Given the description of an element on the screen output the (x, y) to click on. 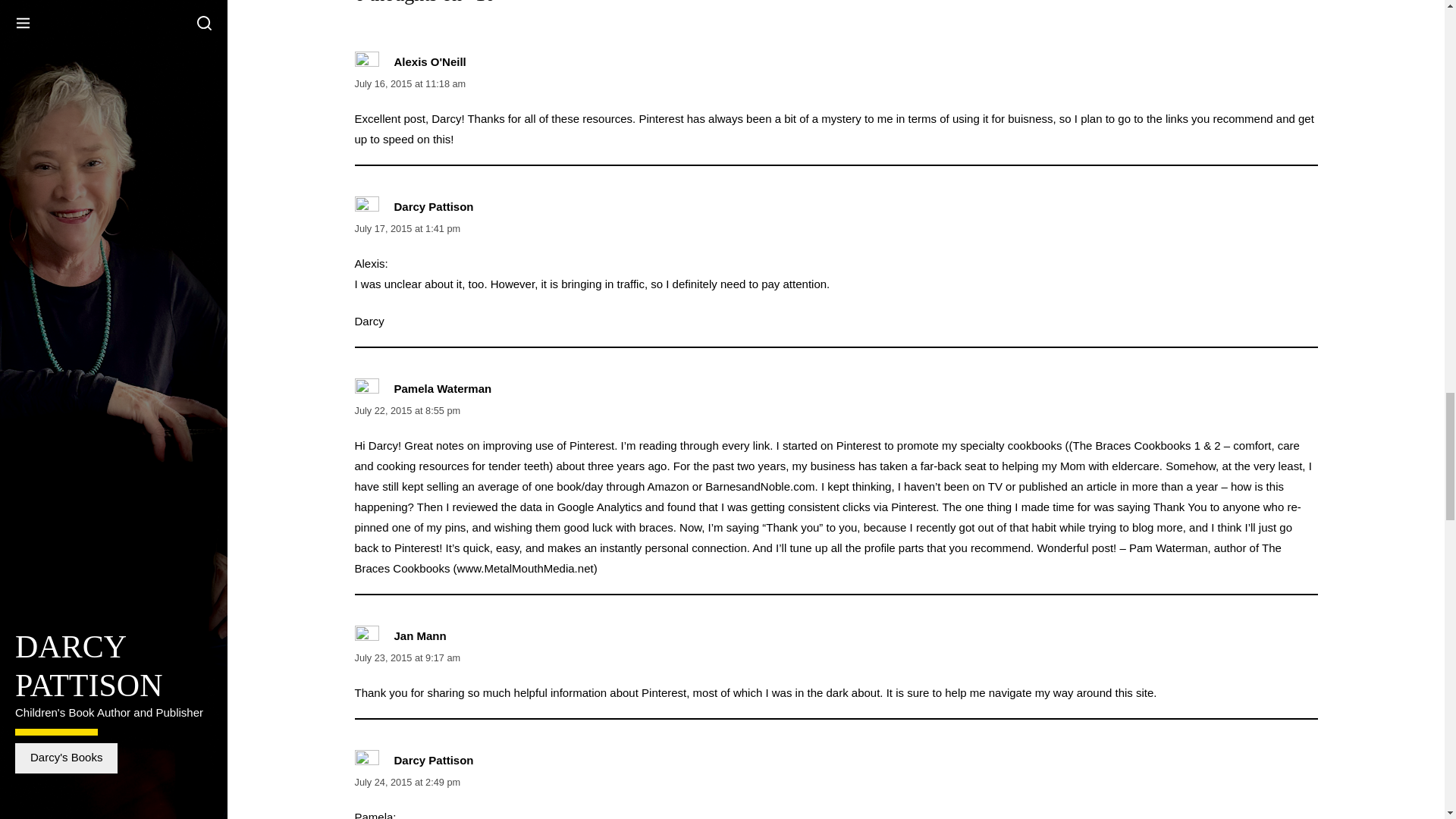
Jan Mann (420, 635)
July 16, 2015 at 11:18 am (410, 83)
July 22, 2015 at 8:55 pm (408, 410)
July 17, 2015 at 1:41 pm (408, 228)
Alexis O'Neill (429, 61)
Pamela Waterman (443, 388)
Darcy Pattison (434, 759)
Darcy Pattison (434, 205)
July 23, 2015 at 9:17 am (408, 657)
